Given the description of an element on the screen output the (x, y) to click on. 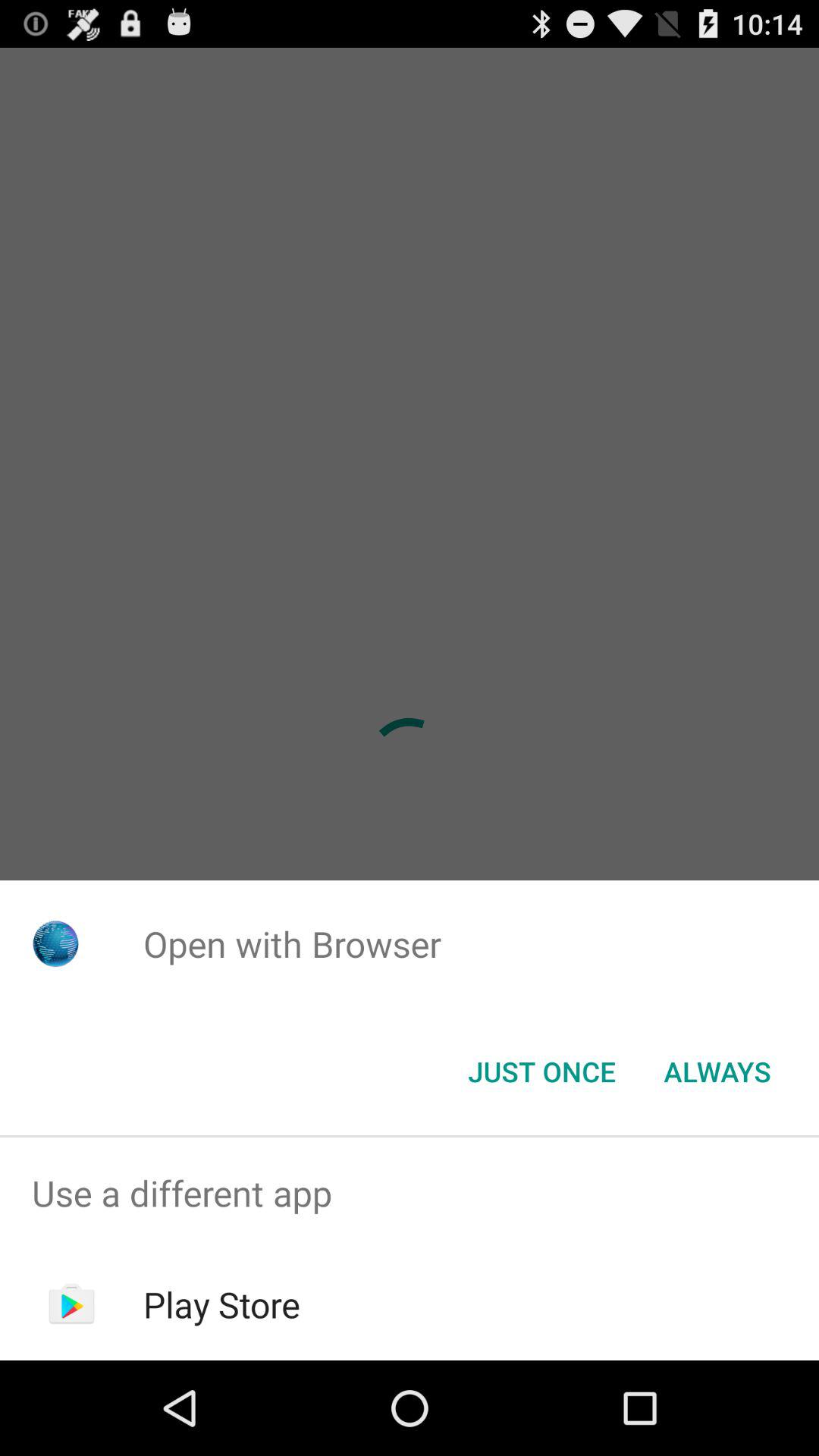
turn on always button (717, 1071)
